Given the description of an element on the screen output the (x, y) to click on. 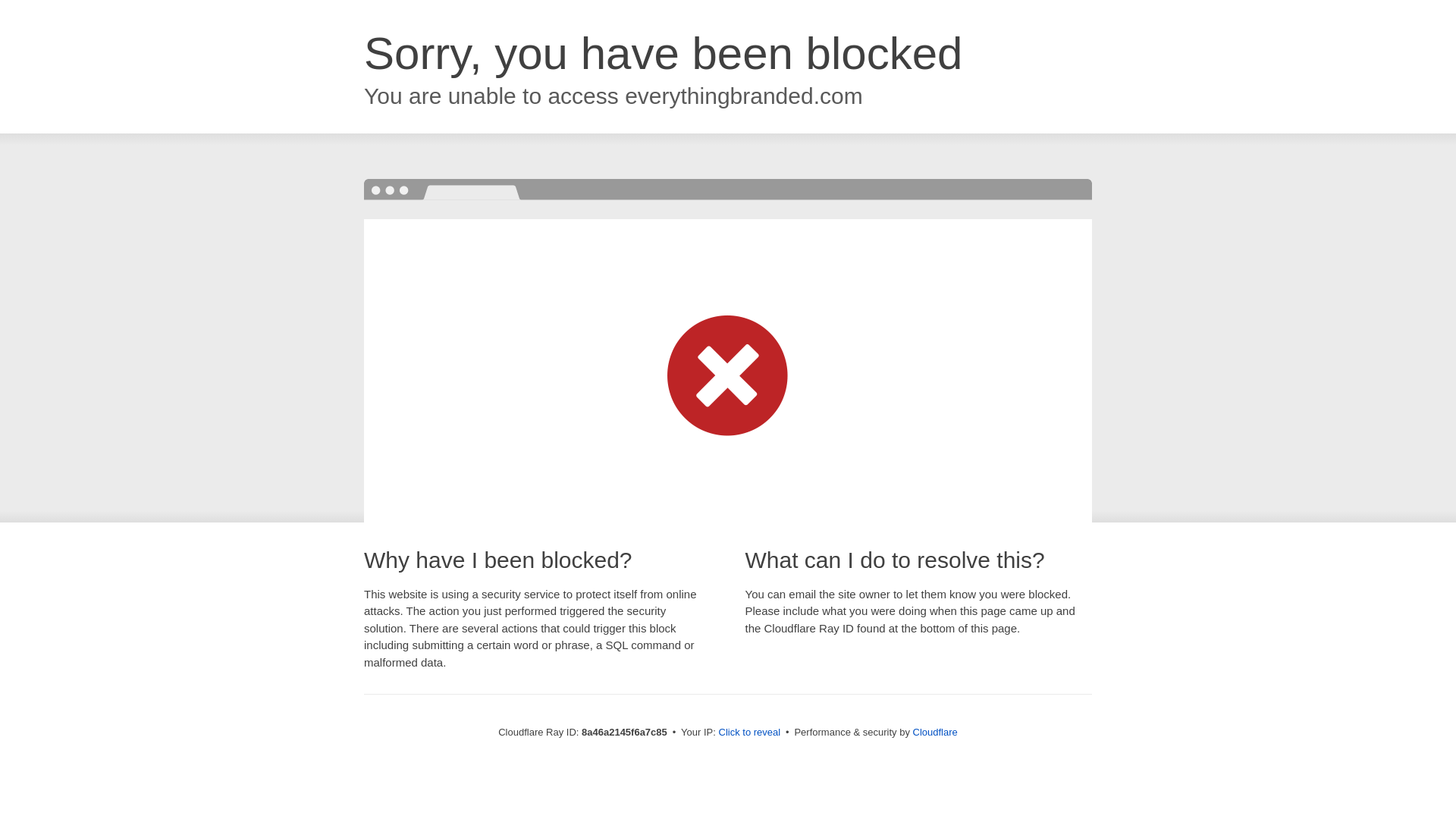
Click to reveal (749, 732)
Cloudflare (935, 731)
